Given the description of an element on the screen output the (x, y) to click on. 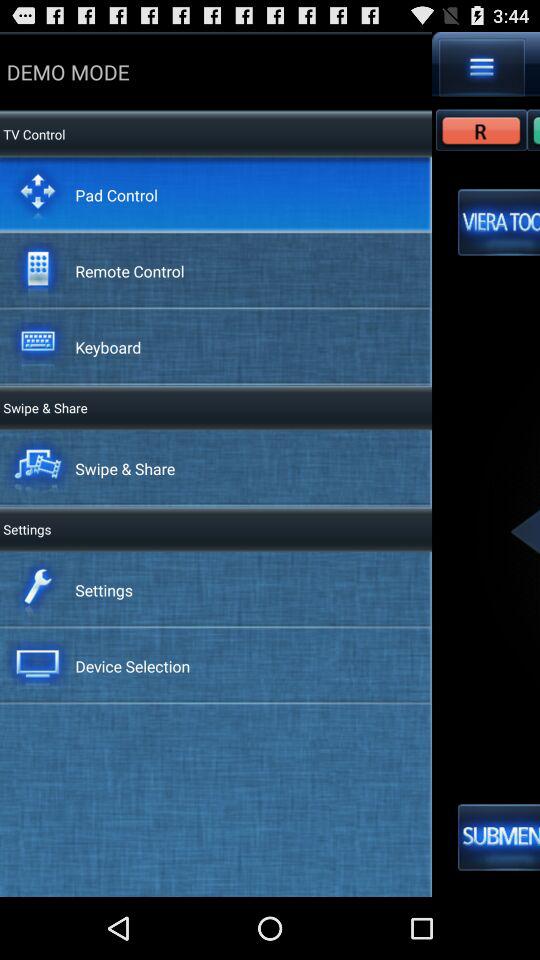
select app below demo mode icon (32, 133)
